Given the description of an element on the screen output the (x, y) to click on. 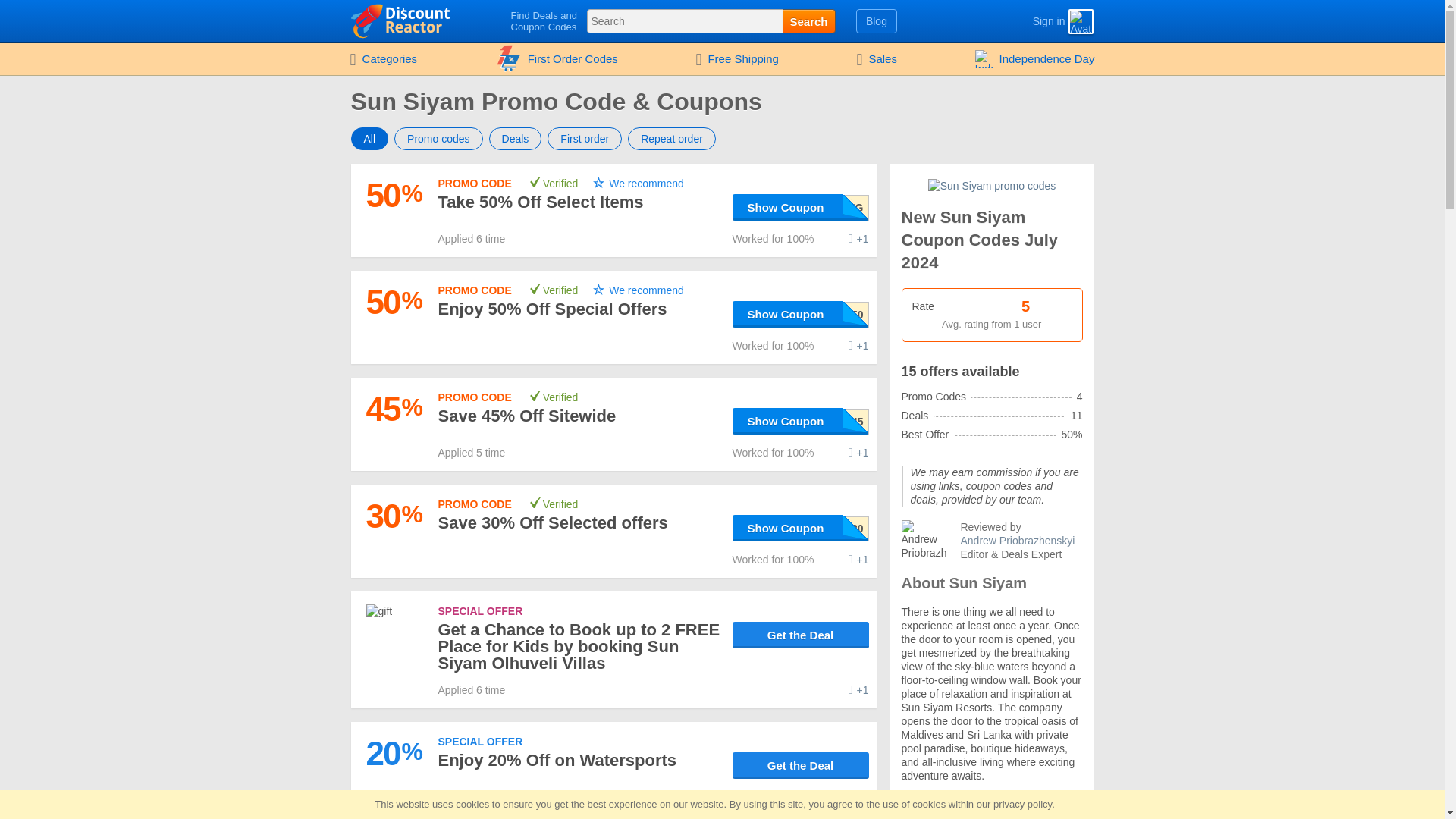
Show Coupon (800, 314)
Blog (876, 20)
Leave your comment  (858, 345)
Show Coupon (800, 207)
Leave your comment  (858, 689)
Free Shipping (736, 59)
Show Coupon (800, 420)
Leave your comment  (858, 452)
Leave your comment  (858, 559)
Sales (876, 59)
Show Coupon (800, 207)
Categories (382, 59)
Leave your comment  (858, 238)
Show Coupon (800, 420)
Leave your comment  (858, 796)
